Given the description of an element on the screen output the (x, y) to click on. 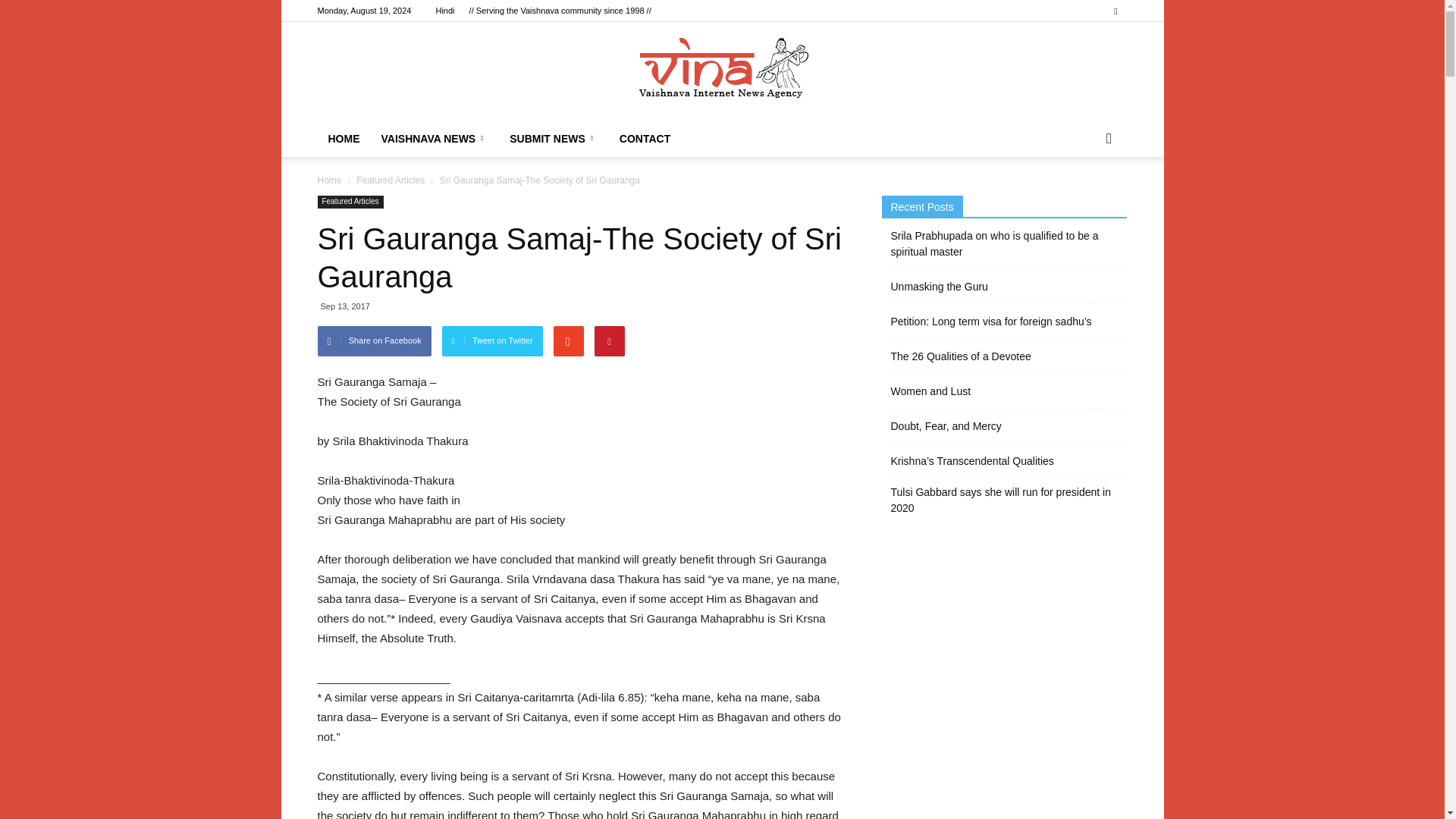
VAISHNAVA NEWS (434, 138)
Facebook (1114, 10)
Hindi (444, 10)
VAISHNAVA NEWS (140, 91)
HOME (140, 57)
View all posts in Featured Articles (390, 180)
Home (328, 180)
SUBMIT NEWS (140, 125)
SUBMIT NEWS (553, 138)
CLOSE (140, 20)
